Given the description of an element on the screen output the (x, y) to click on. 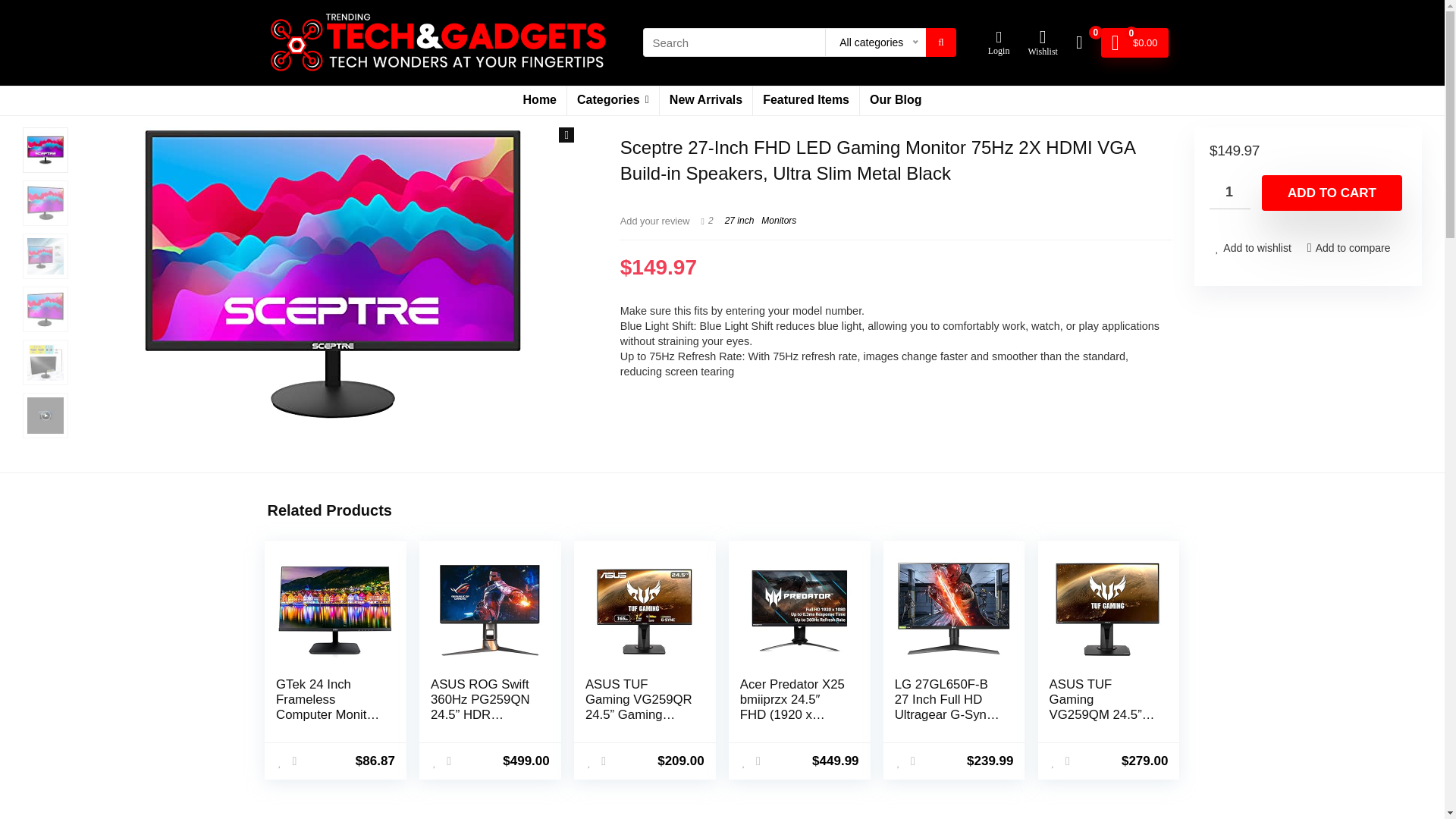
View all posts in Monitors (778, 220)
1 (1229, 192)
View all posts in 27 inch (739, 220)
Add your review (655, 220)
Home (539, 100)
Categories (613, 100)
